Given the description of an element on the screen output the (x, y) to click on. 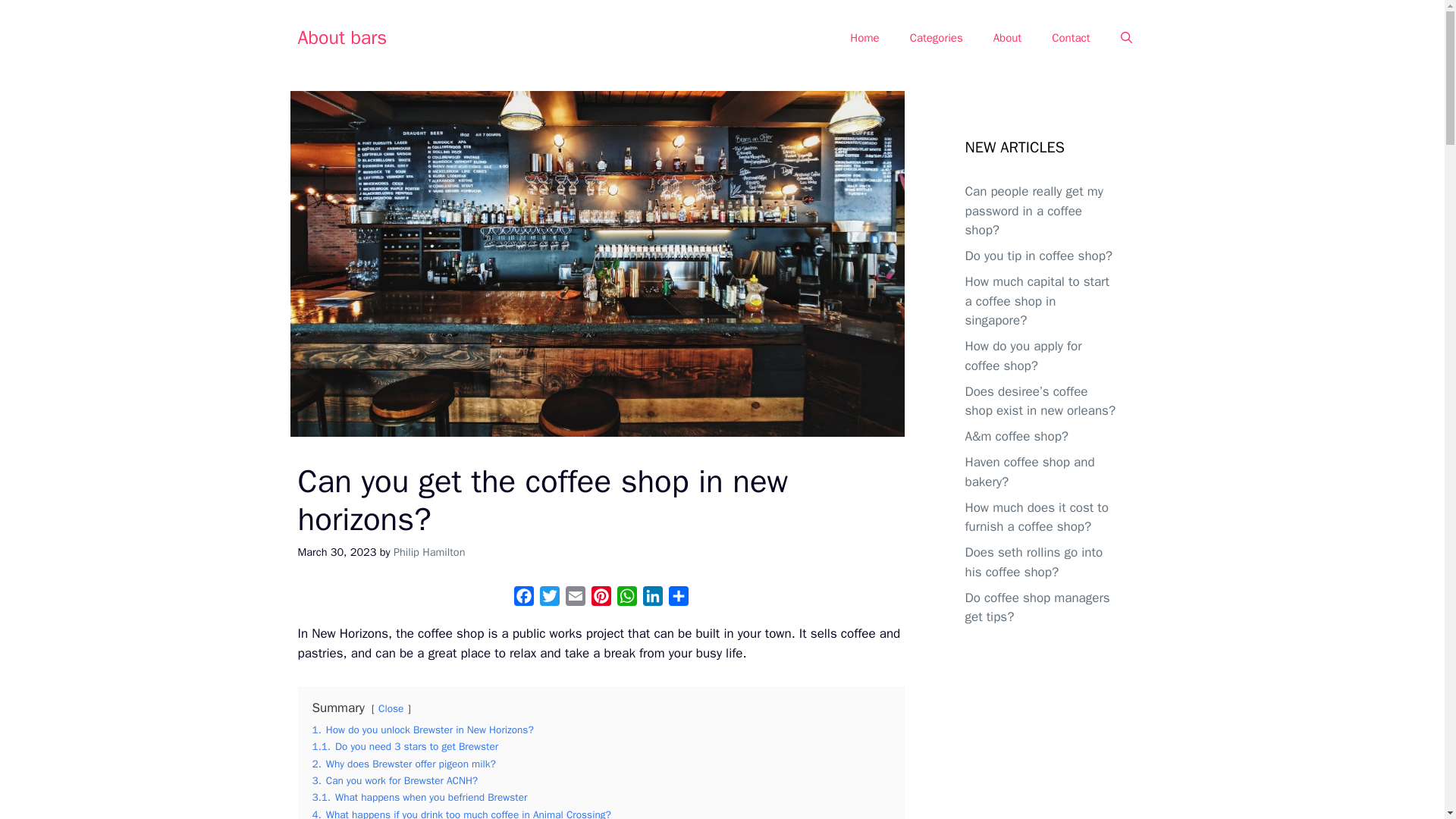
3.1. What happens when you befriend Brewster (420, 797)
Contact (1070, 37)
Pinterest (601, 598)
LinkedIn (652, 598)
Twitter (549, 598)
About bars (342, 37)
3. Can you work for Brewster ACNH? (396, 780)
Close (390, 707)
Home (863, 37)
